Given the description of an element on the screen output the (x, y) to click on. 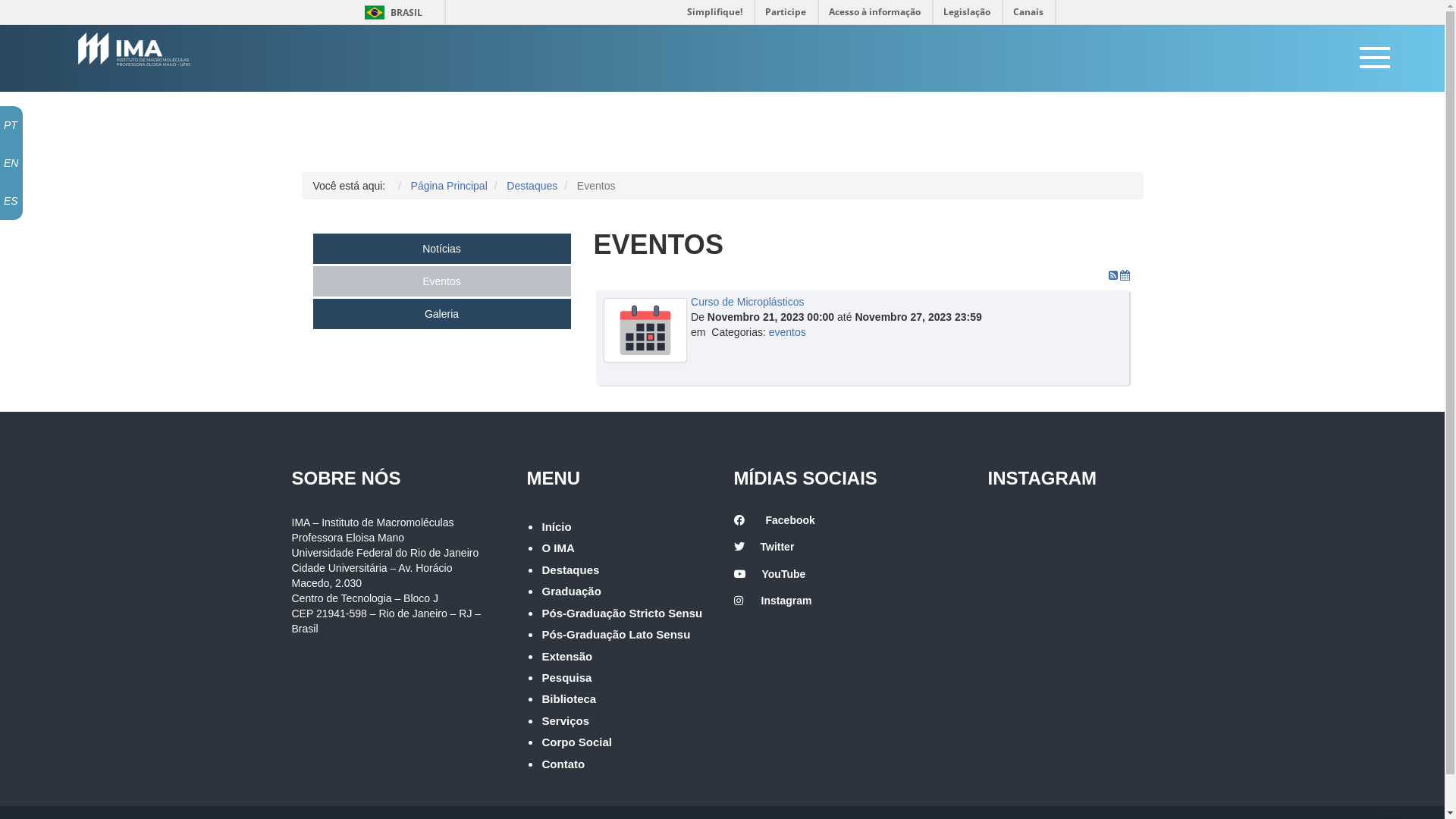
YouTube Element type: text (783, 573)
Contato Element type: text (562, 763)
Biblioteca Element type: text (568, 698)
Pesquisa Element type: text (566, 677)
O IMA Element type: text (557, 547)
eventos Element type: text (787, 332)
Twitter Element type: text (776, 546)
Galeria Element type: text (441, 313)
BRASIL Element type: text (373, 12)
Eventos Element type: text (441, 281)
Facebook Element type: text (790, 520)
Destaques Element type: text (570, 569)
iCal Feed Element type: hover (1124, 275)
Destaques Element type: text (531, 185)
Instagram Element type: text (786, 600)
RSS Feed Element type: hover (1114, 275)
Corpo Social Element type: text (576, 741)
